Given the description of an element on the screen output the (x, y) to click on. 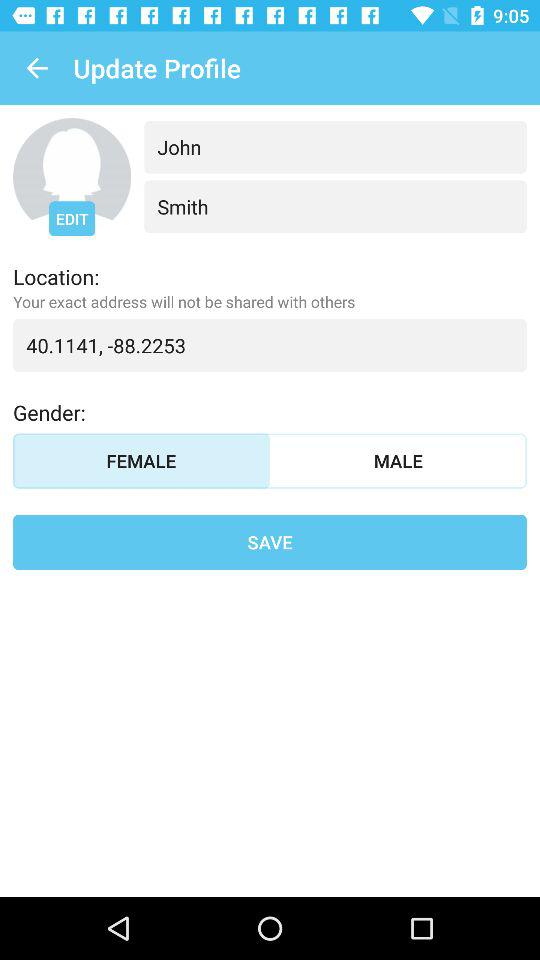
turn on the item below the update profile (335, 146)
